Given the description of an element on the screen output the (x, y) to click on. 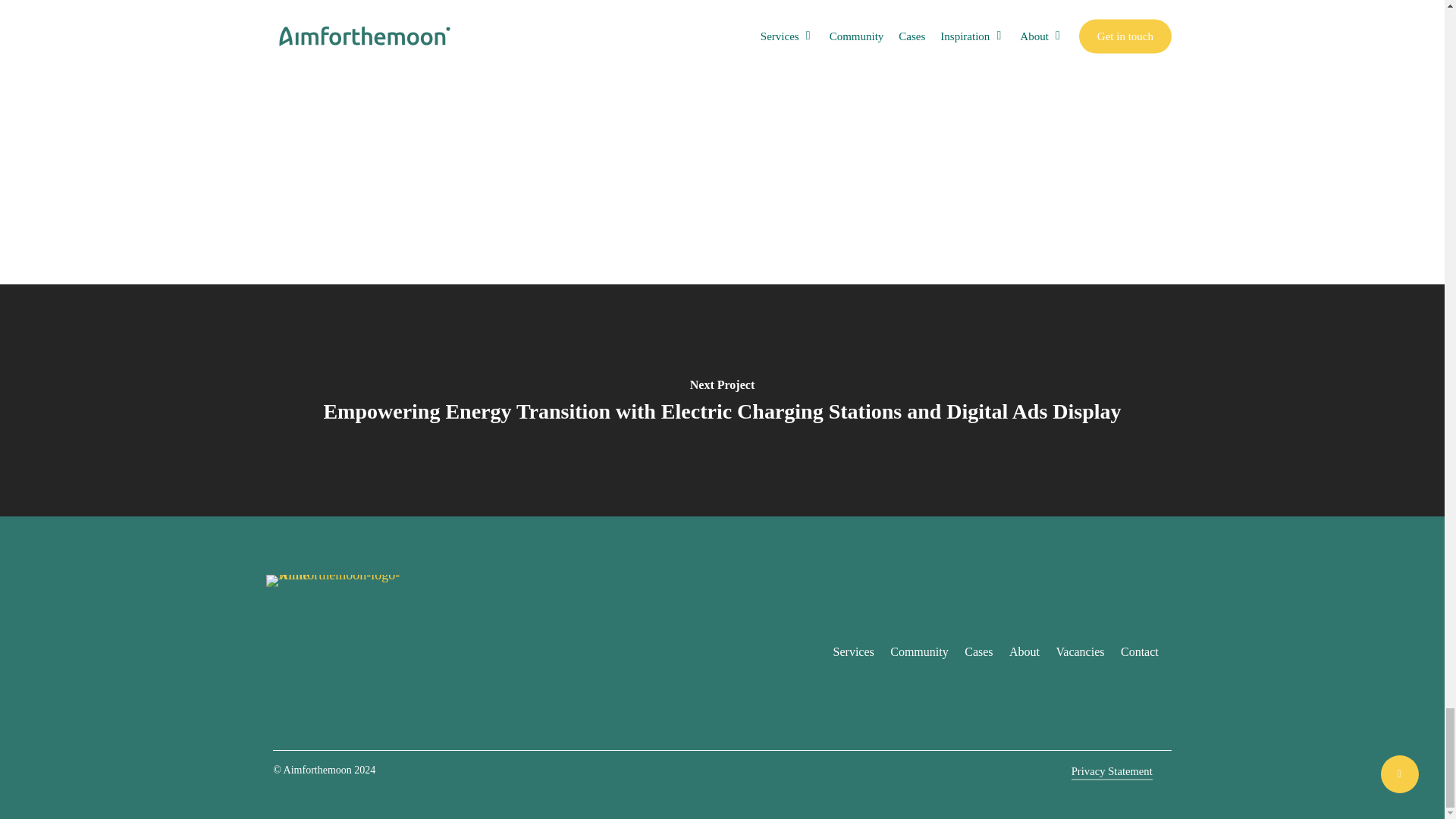
Privacy Statement (1112, 771)
Vacancies (1081, 651)
Cases (977, 651)
Contact (1139, 651)
Community (918, 651)
About (1024, 651)
Services (853, 651)
